Given the description of an element on the screen output the (x, y) to click on. 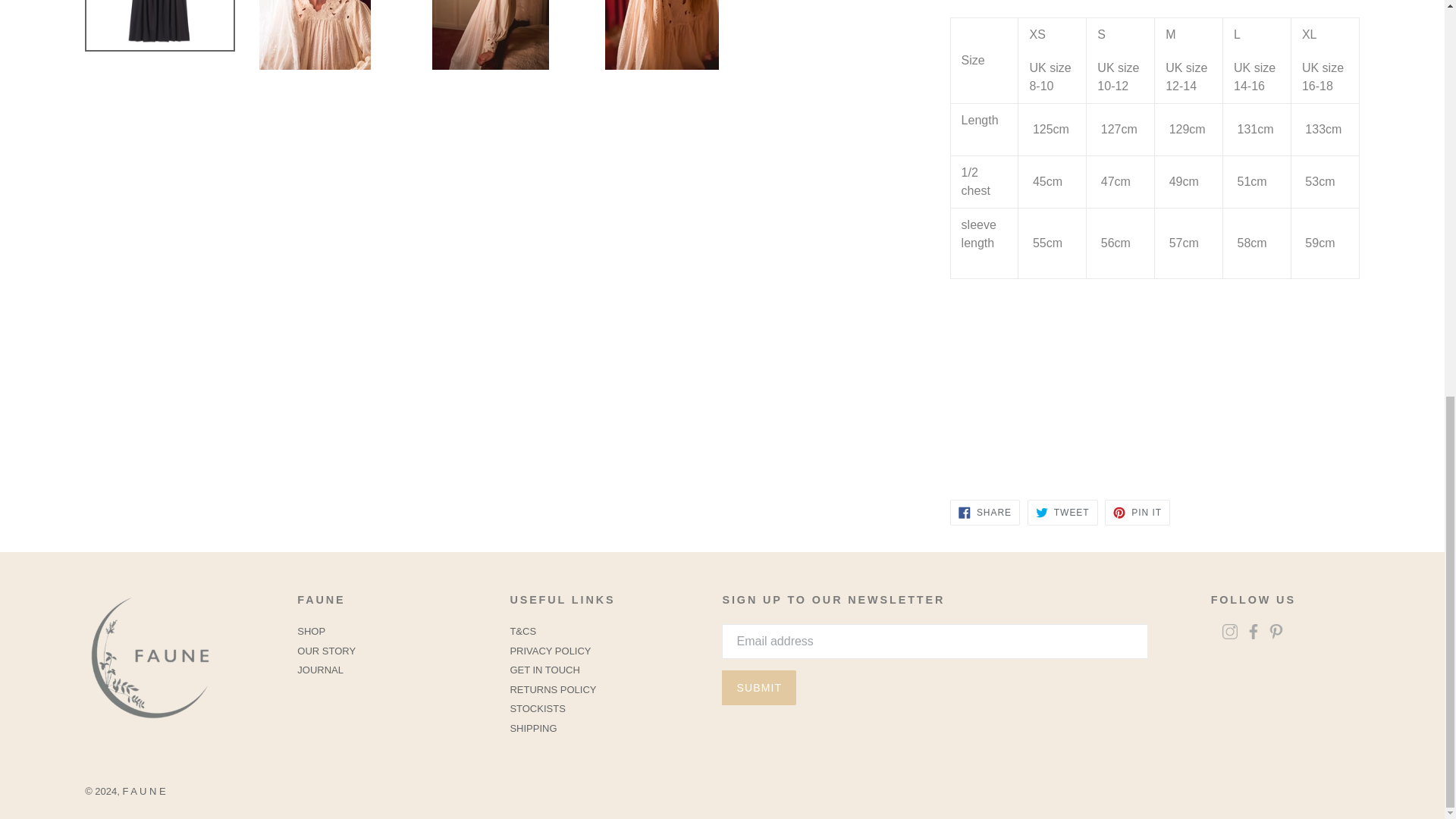
Share on Facebook (985, 512)
F A U N E  on Instagram (1230, 634)
Pin on Pinterest (1137, 512)
F A U N E  on Pinterest (1275, 634)
Tweet on Twitter (1062, 512)
F A U N E  on Facebook (1253, 634)
